Given the description of an element on the screen output the (x, y) to click on. 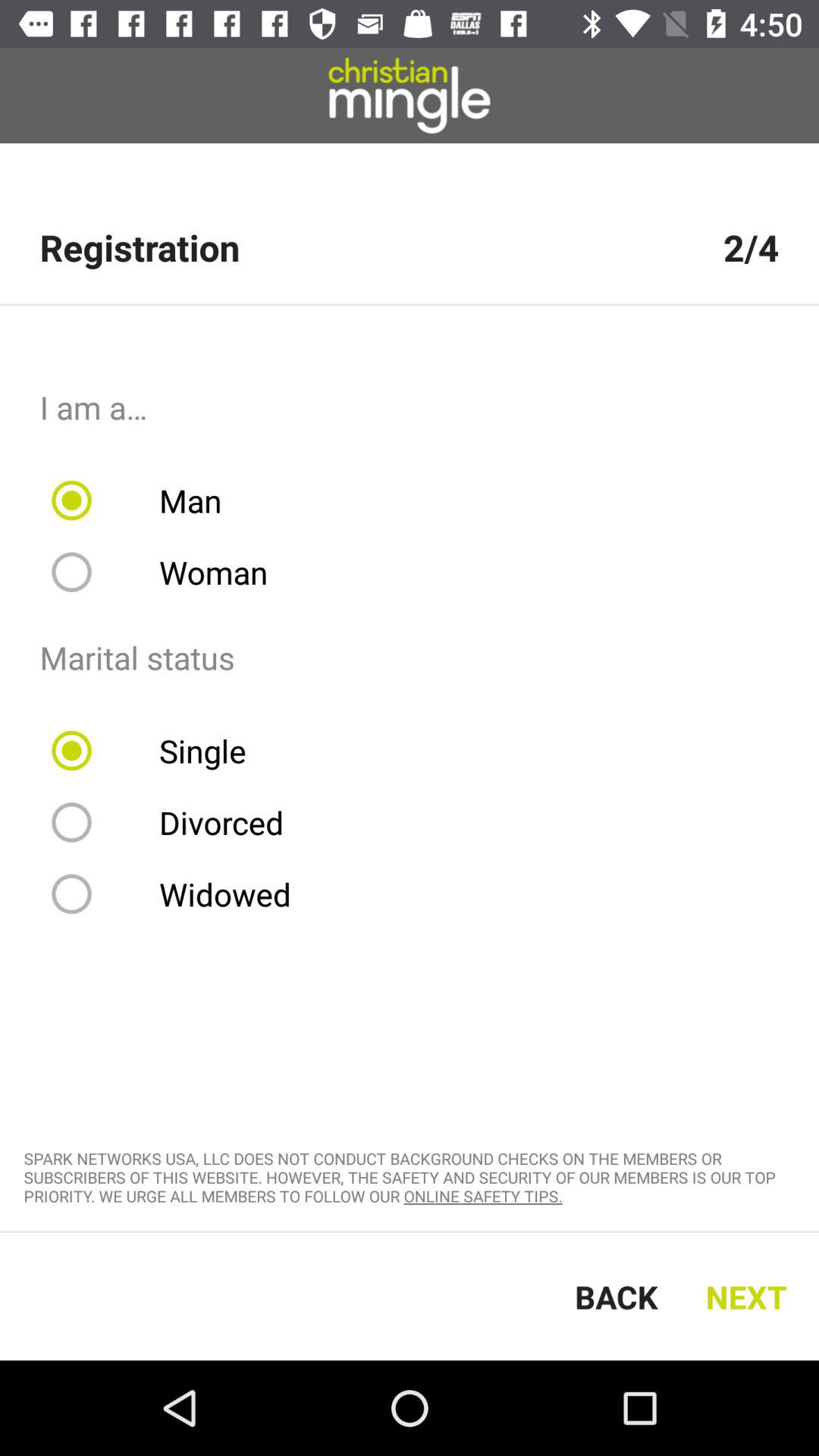
tap the man (146, 500)
